Given the description of an element on the screen output the (x, y) to click on. 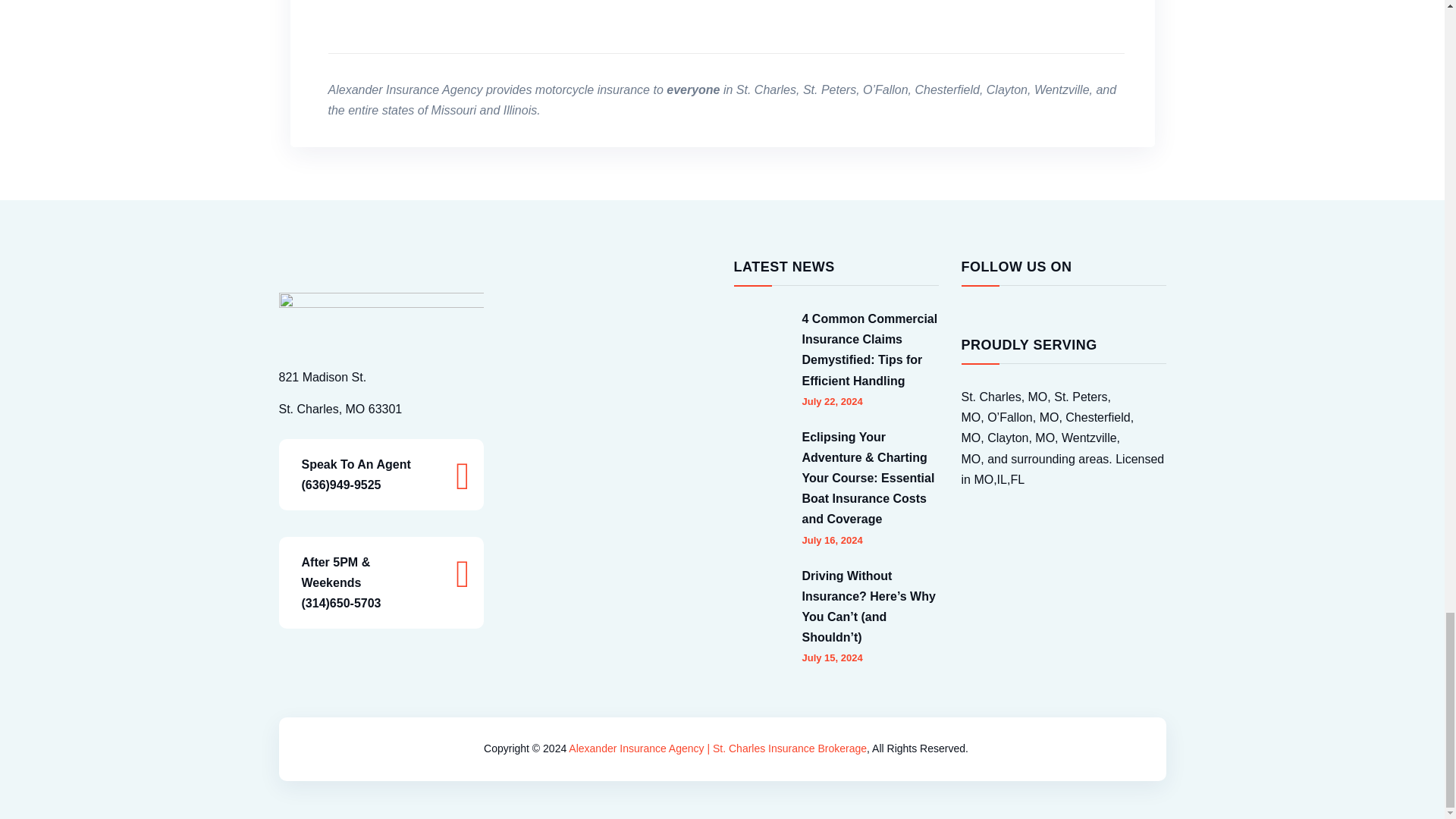
July 22, 2024 (832, 400)
